Given the description of an element on the screen output the (x, y) to click on. 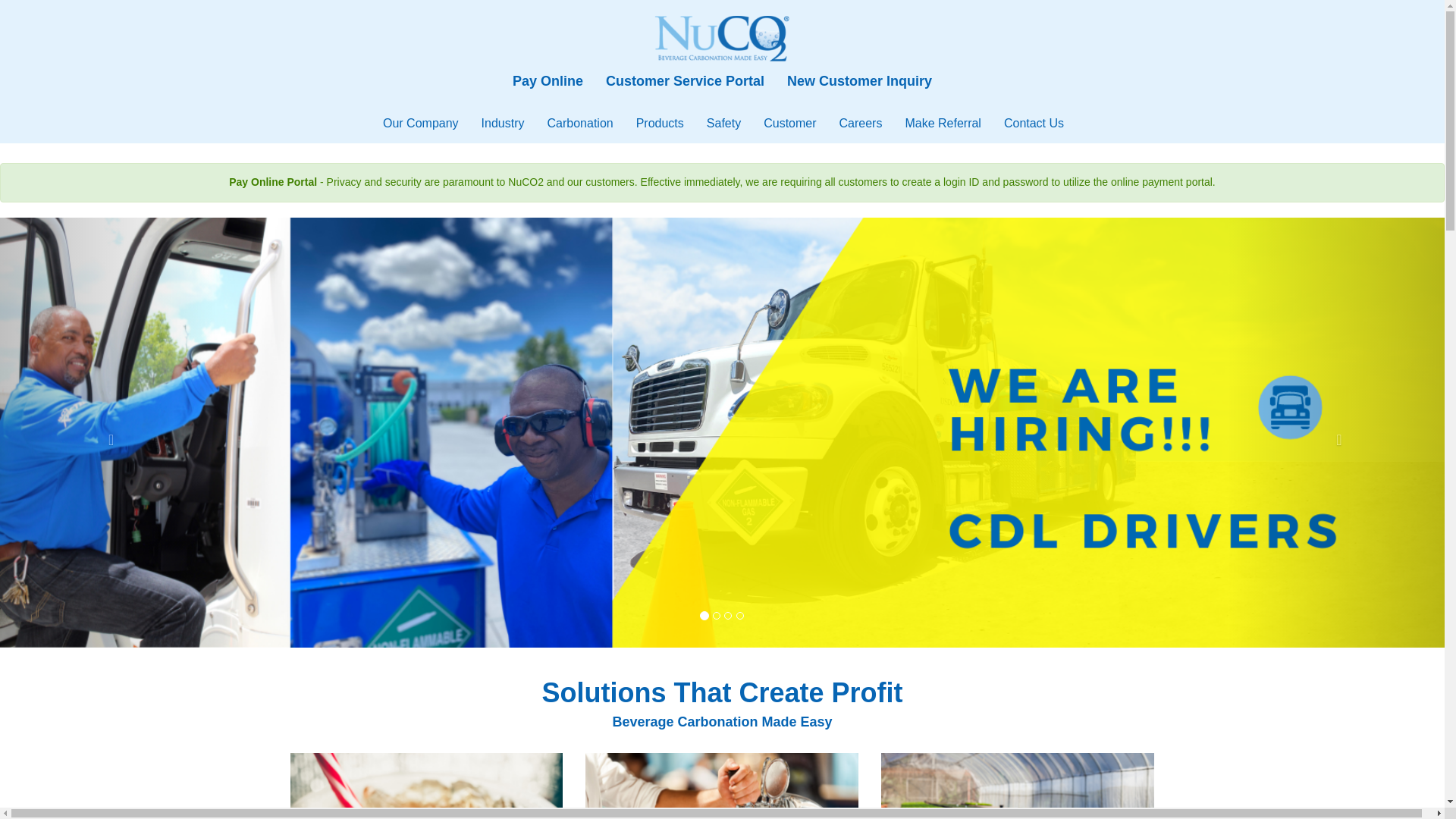
Safety (723, 123)
Customer Service Portal (685, 80)
Products (659, 123)
New Customer Inquiry (859, 80)
Careers (860, 123)
Carbonation (579, 123)
Customer (789, 123)
Industry (502, 123)
Our Company (420, 123)
SolutionCreateProfit (722, 715)
